Given the description of an element on the screen output the (x, y) to click on. 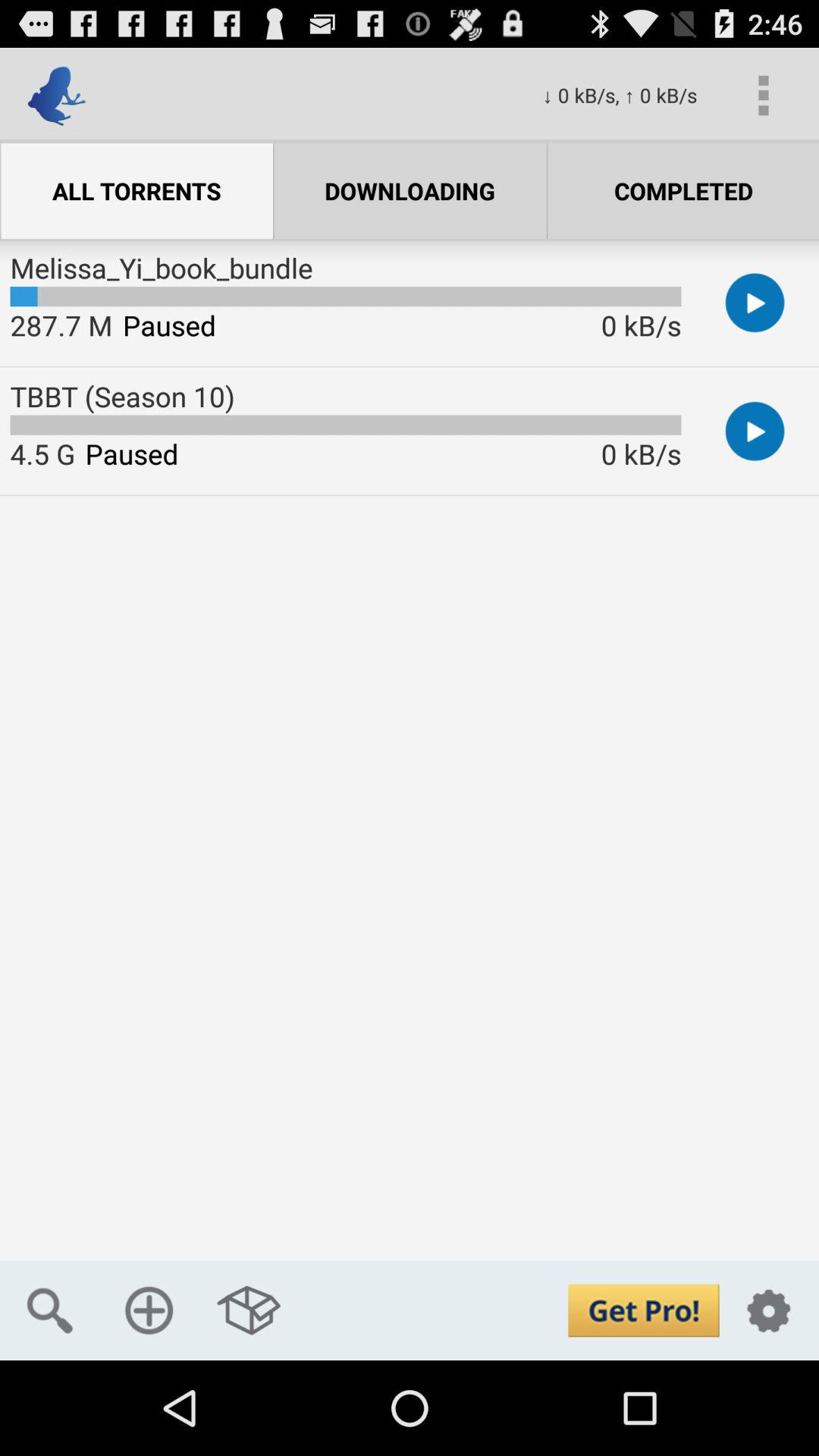
open 4.5 g item (42, 453)
